Given the description of an element on the screen output the (x, y) to click on. 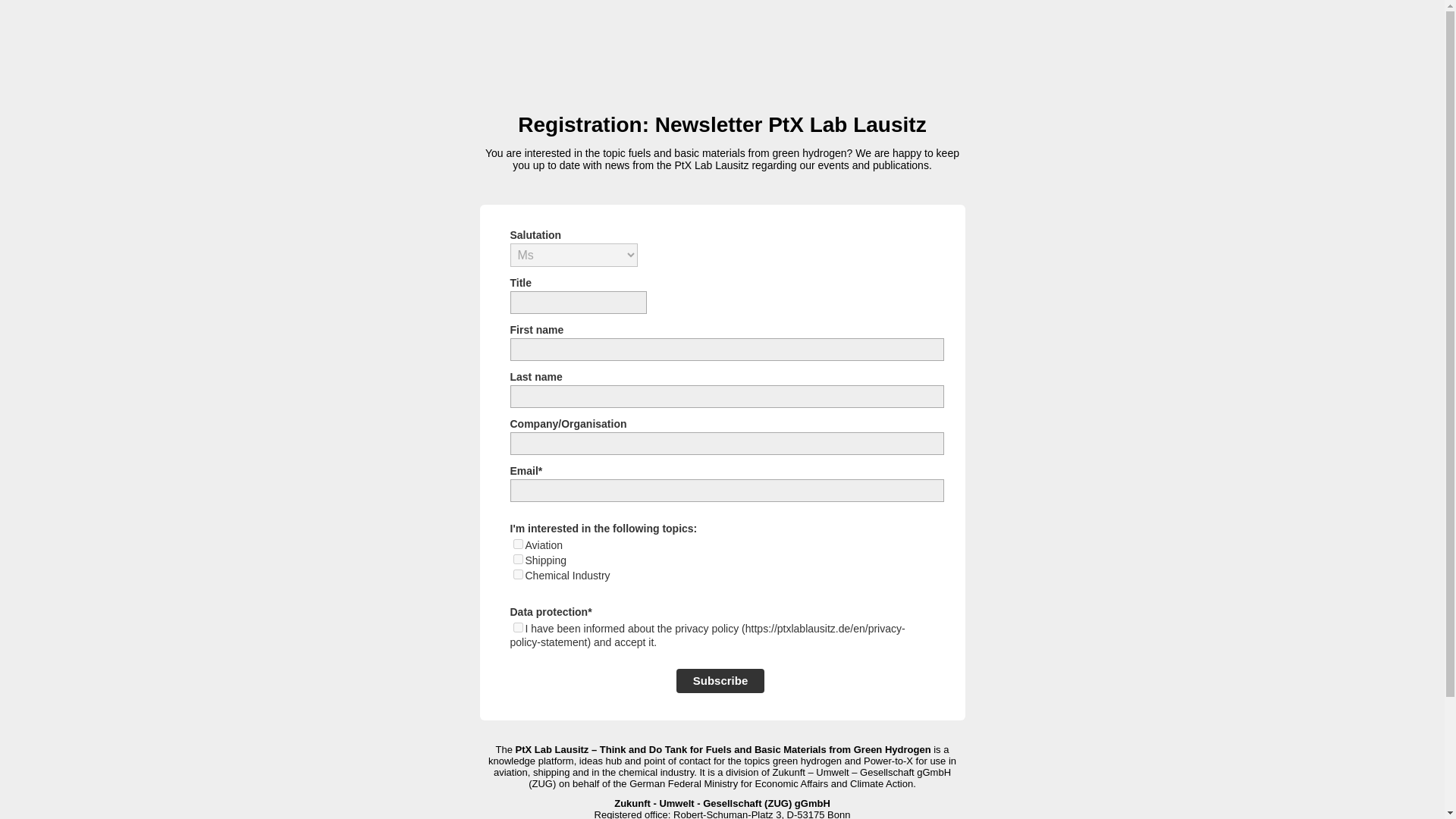
Chemical Industry (517, 574)
Subscribe (721, 680)
Aviation (517, 543)
Shipping (517, 559)
